Given the description of an element on the screen output the (x, y) to click on. 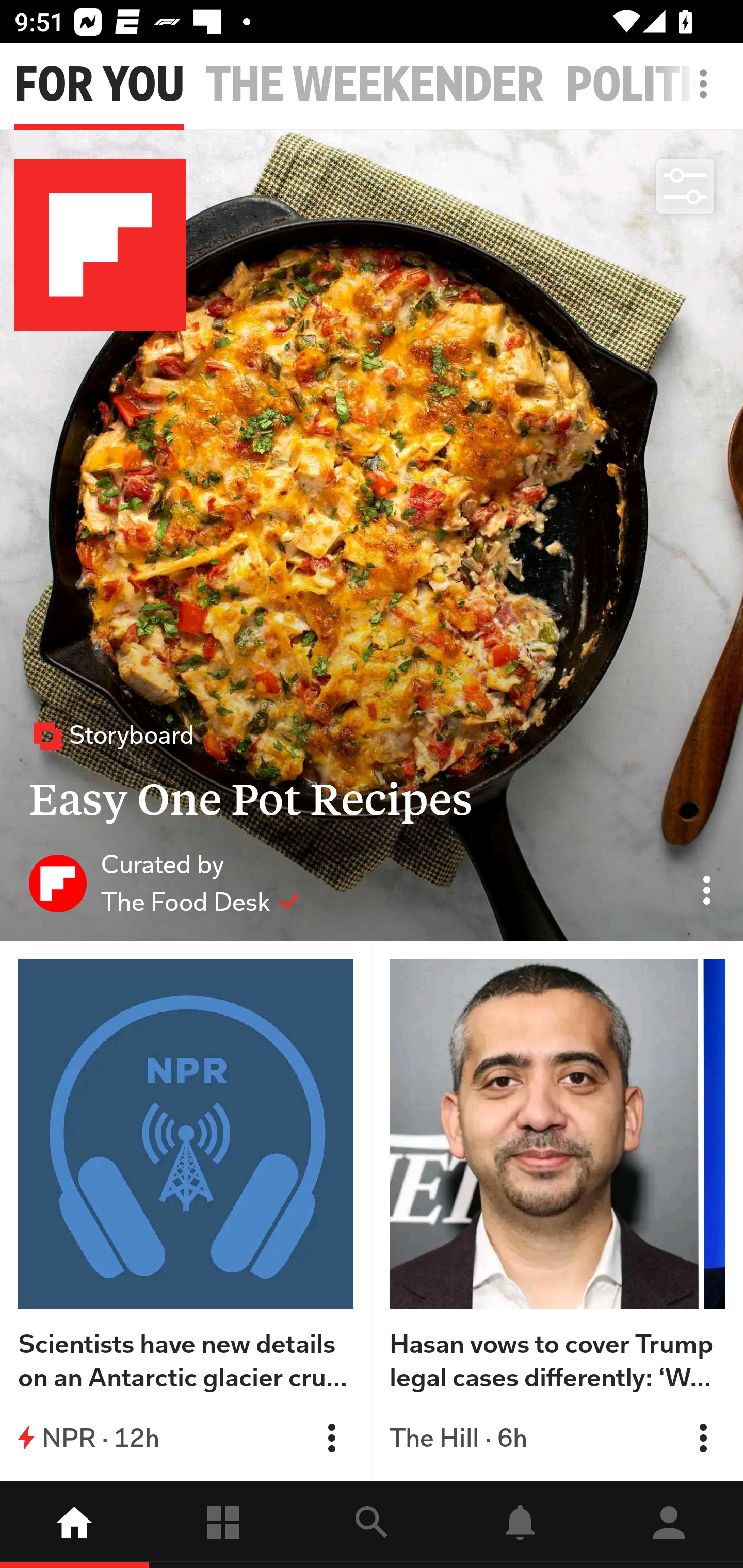
FOR YOU (99, 84)
THE WEEKENDER (374, 84)
POLITICS (654, 84)
More options (706, 93)
Curated by The Food Desk (163, 882)
NPR · 12h Flip into Magazine (185, 1437)
The Hill · 6h Flip into Magazine (557, 1437)
Flip into Magazine (331, 1437)
Flip into Magazine (703, 1437)
home (74, 1524)
Following (222, 1524)
explore (371, 1524)
Notifications (519, 1524)
Profile (668, 1524)
